Given the description of an element on the screen output the (x, y) to click on. 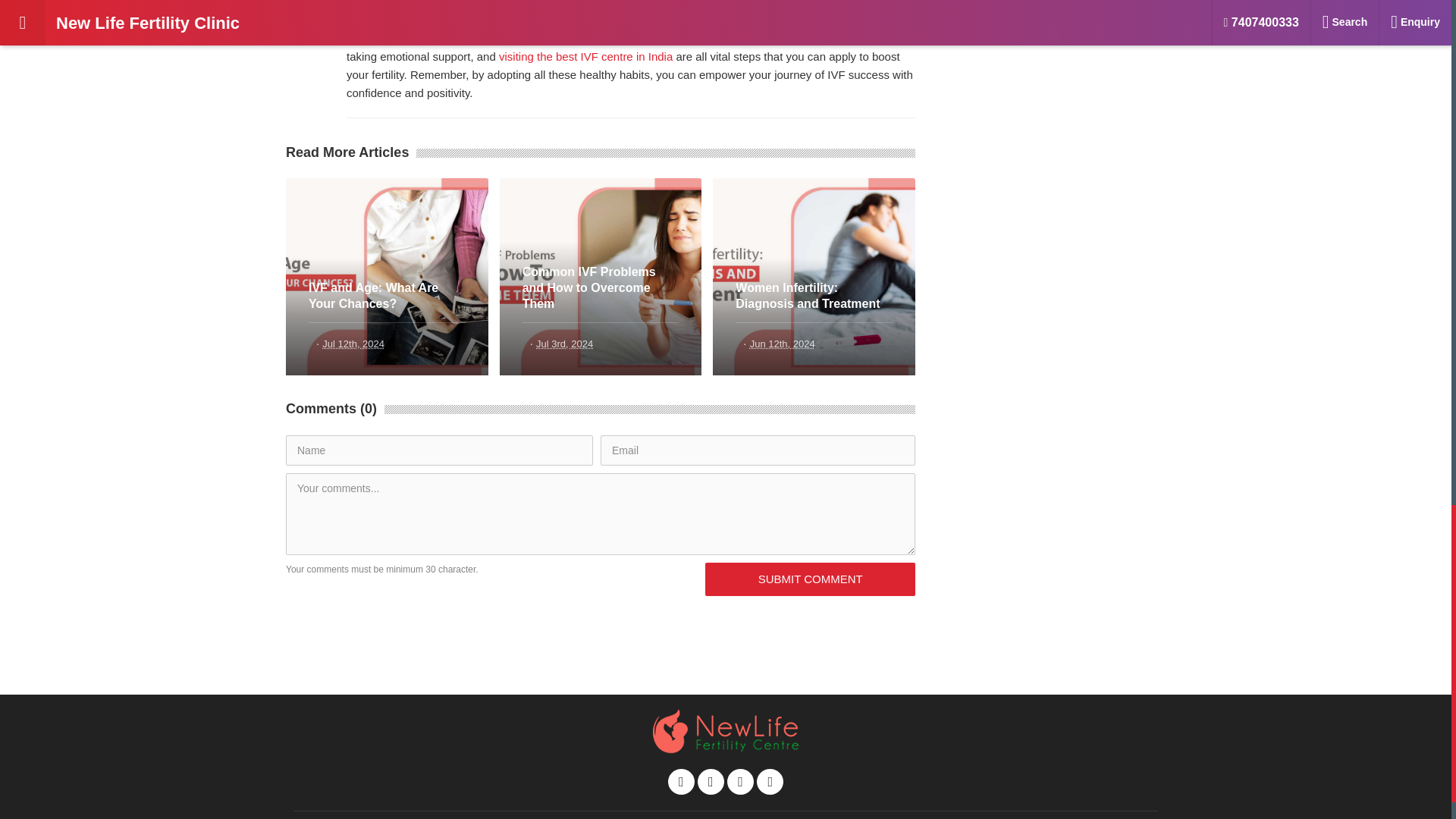
Jul 12th, 2024 (352, 343)
Jun 12th, 2024 (782, 343)
Jul 3rd, 2024 (563, 343)
visiting the best IVF centre in India (585, 56)
SUBMIT COMMENT (809, 579)
